Given the description of an element on the screen output the (x, y) to click on. 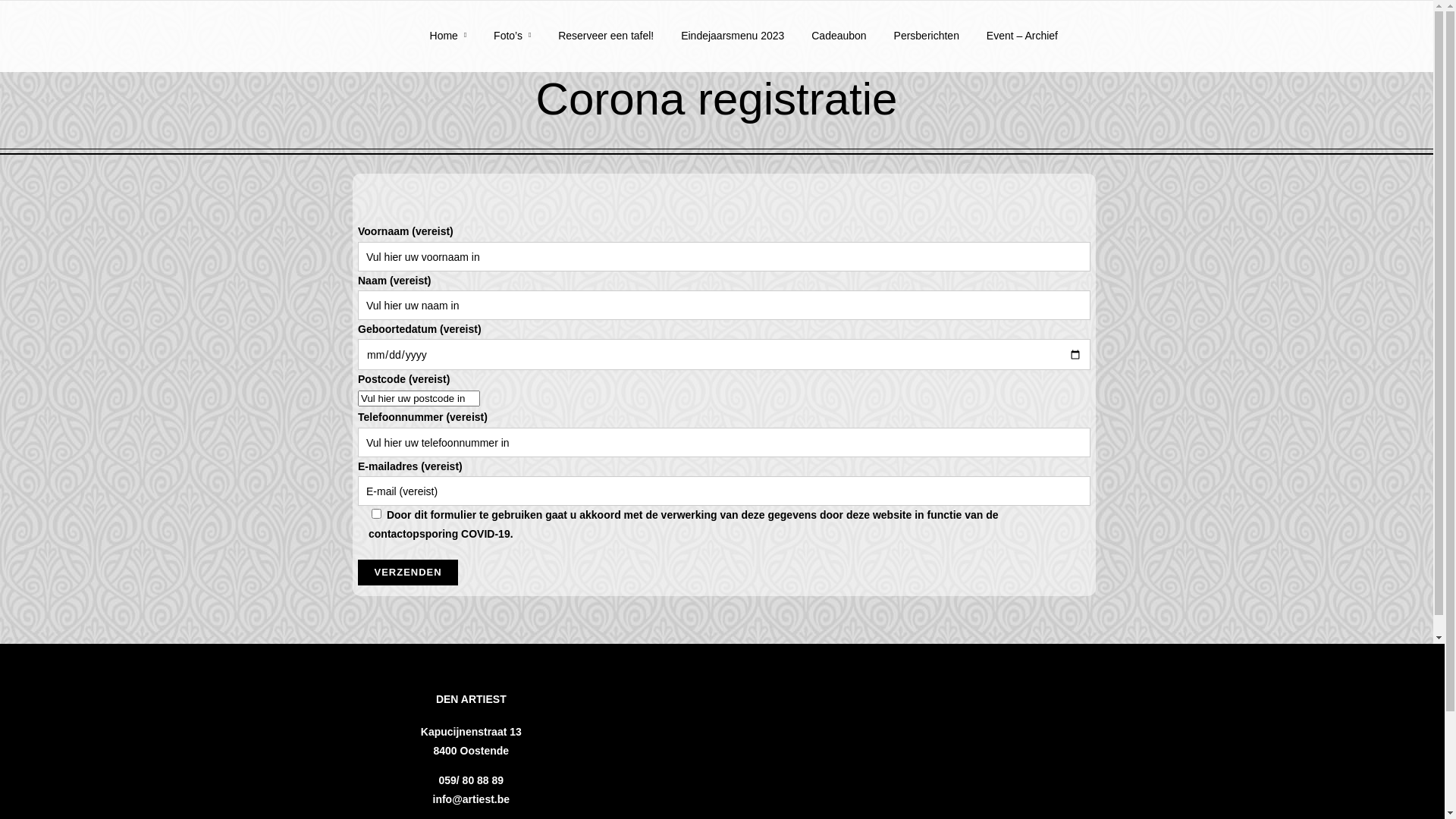
VERZENDEN Element type: text (407, 572)
Cadeaubon Element type: text (838, 46)
Home Element type: text (448, 46)
Reserveer een tafel! Element type: text (605, 46)
Persberichten Element type: text (926, 46)
Eindejaarsmenu 2023 Element type: text (732, 46)
